Given the description of an element on the screen output the (x, y) to click on. 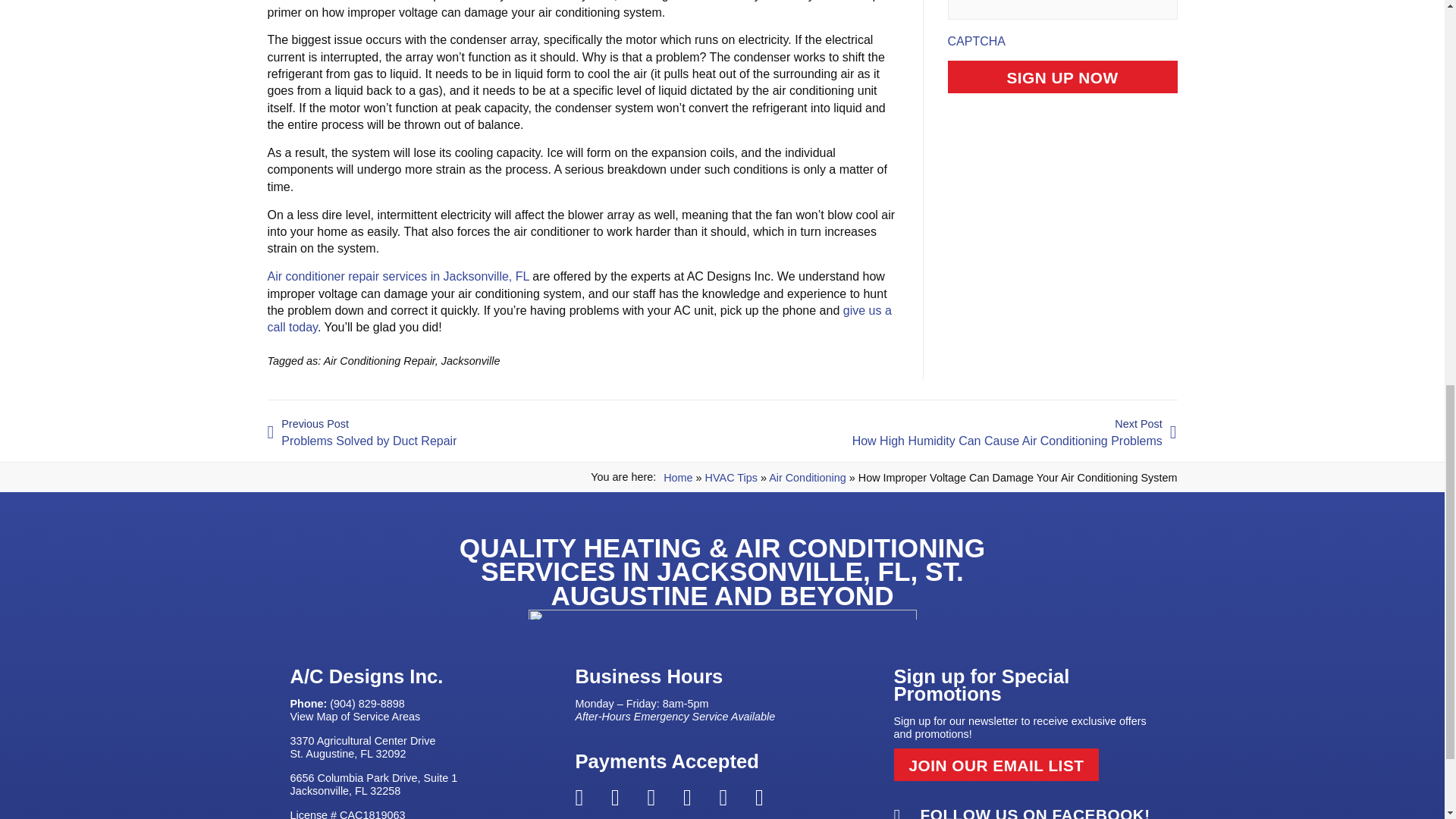
Sign Up Now (1062, 76)
